Given the description of an element on the screen output the (x, y) to click on. 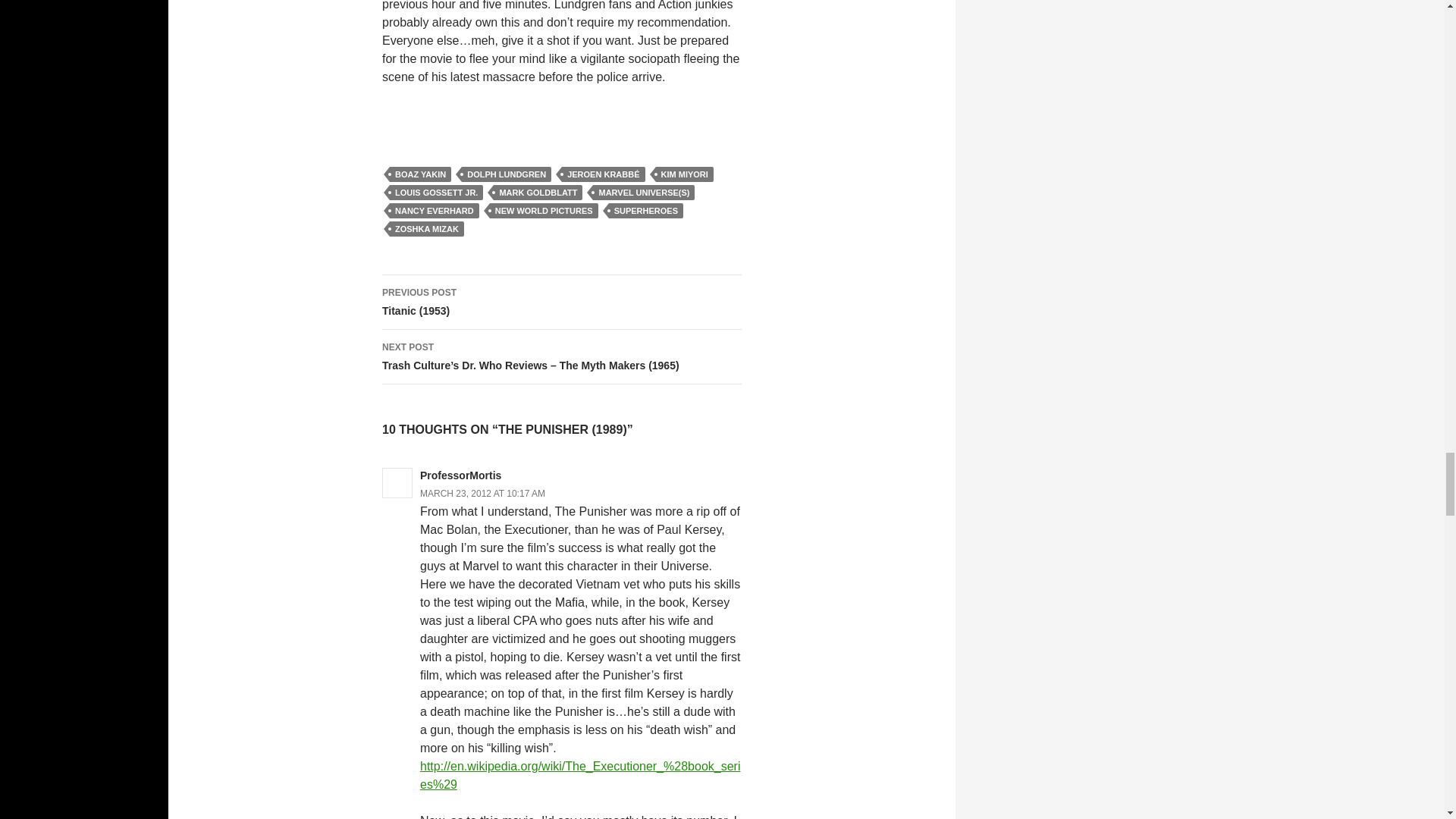
NEW WORLD PICTURES (543, 210)
KIM MIYORI (684, 174)
BOAZ YAKIN (420, 174)
LOUIS GOSSETT JR. (436, 192)
G (561, 116)
G (537, 116)
NANCY EVERHARD (434, 210)
G (585, 116)
DOLPH LUNDGREN (506, 174)
MARK GOLDBLATT (537, 192)
